Given the description of an element on the screen output the (x, y) to click on. 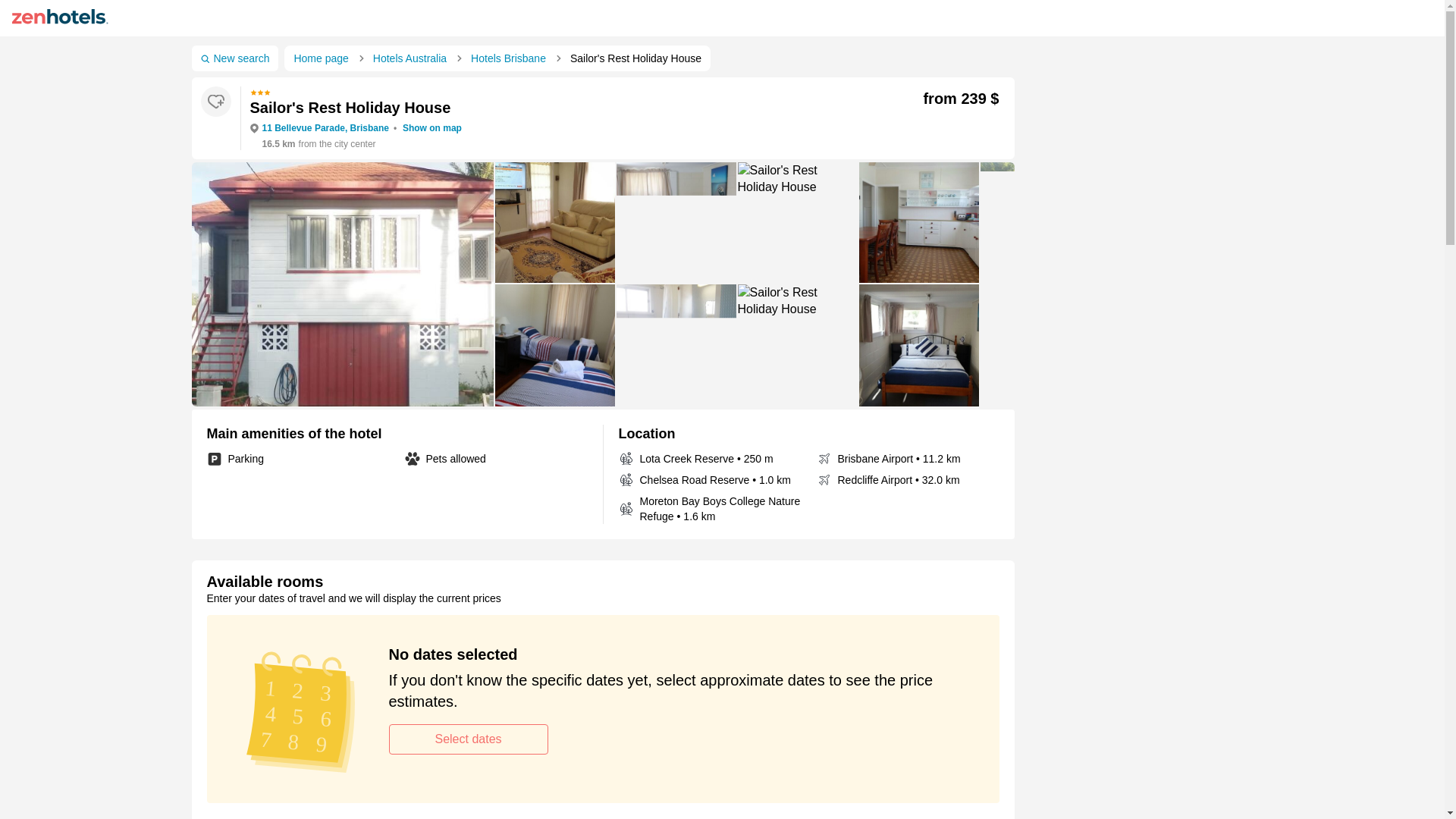
Show on map (432, 128)
Select dates (467, 738)
New search (234, 58)
Hotels Brisbane (510, 58)
Home page (322, 58)
11 Bellevue Parade, Brisbane (325, 128)
Hotels Australia (412, 58)
